Given the description of an element on the screen output the (x, y) to click on. 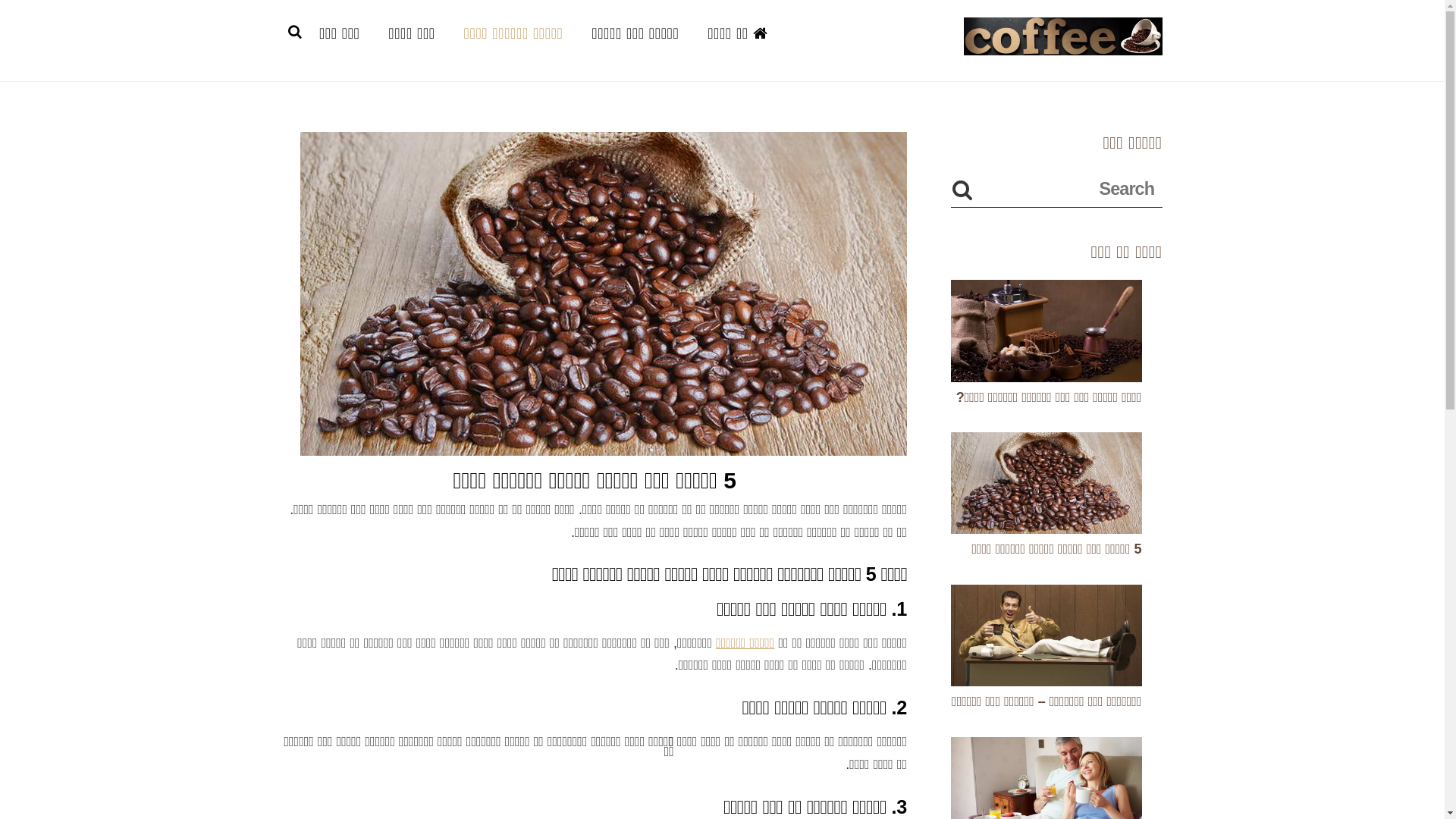
Search Element type: hover (1055, 188)
